Given the description of an element on the screen output the (x, y) to click on. 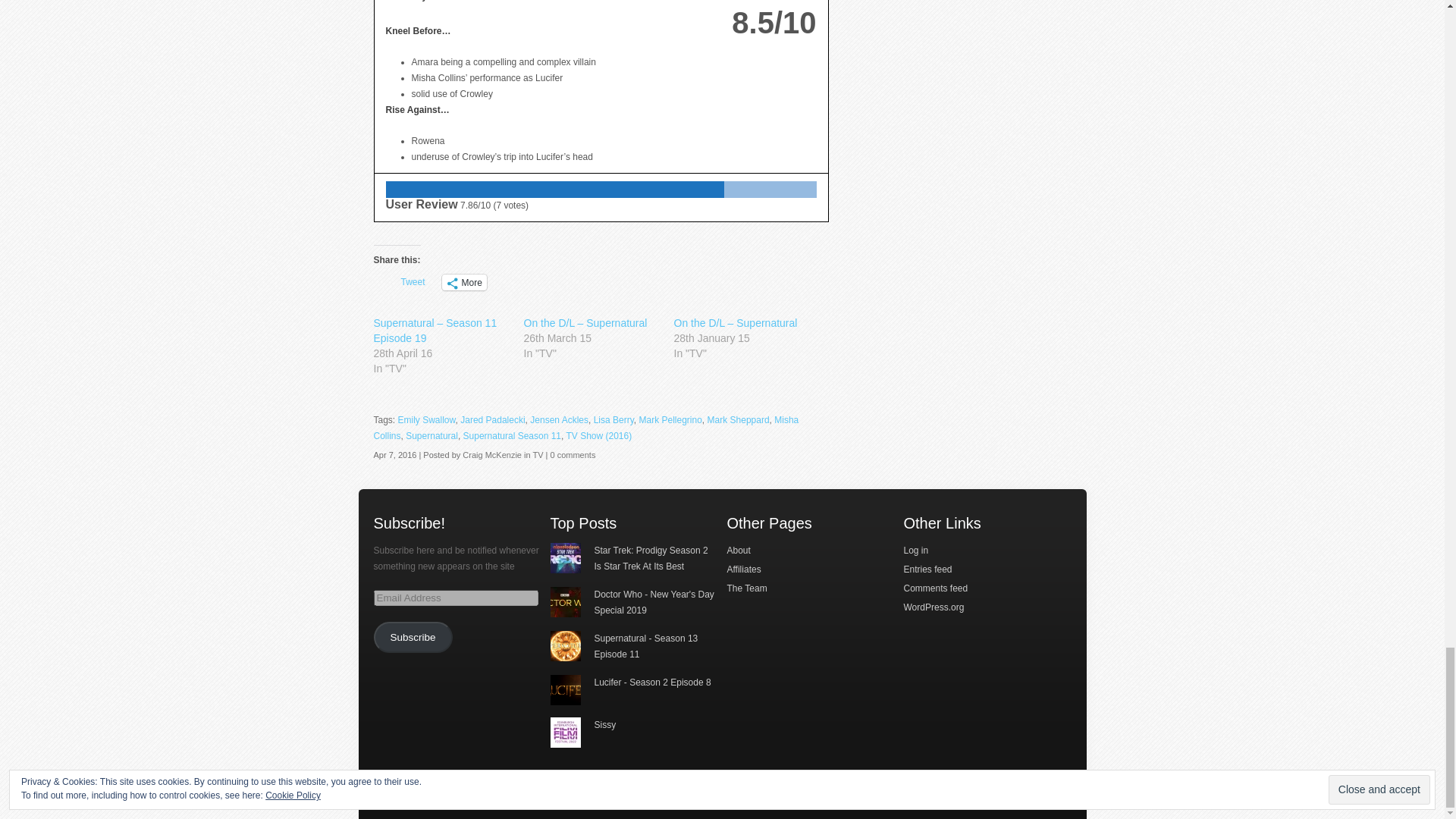
Posts by Craig McKenzie (492, 454)
